Given the description of an element on the screen output the (x, y) to click on. 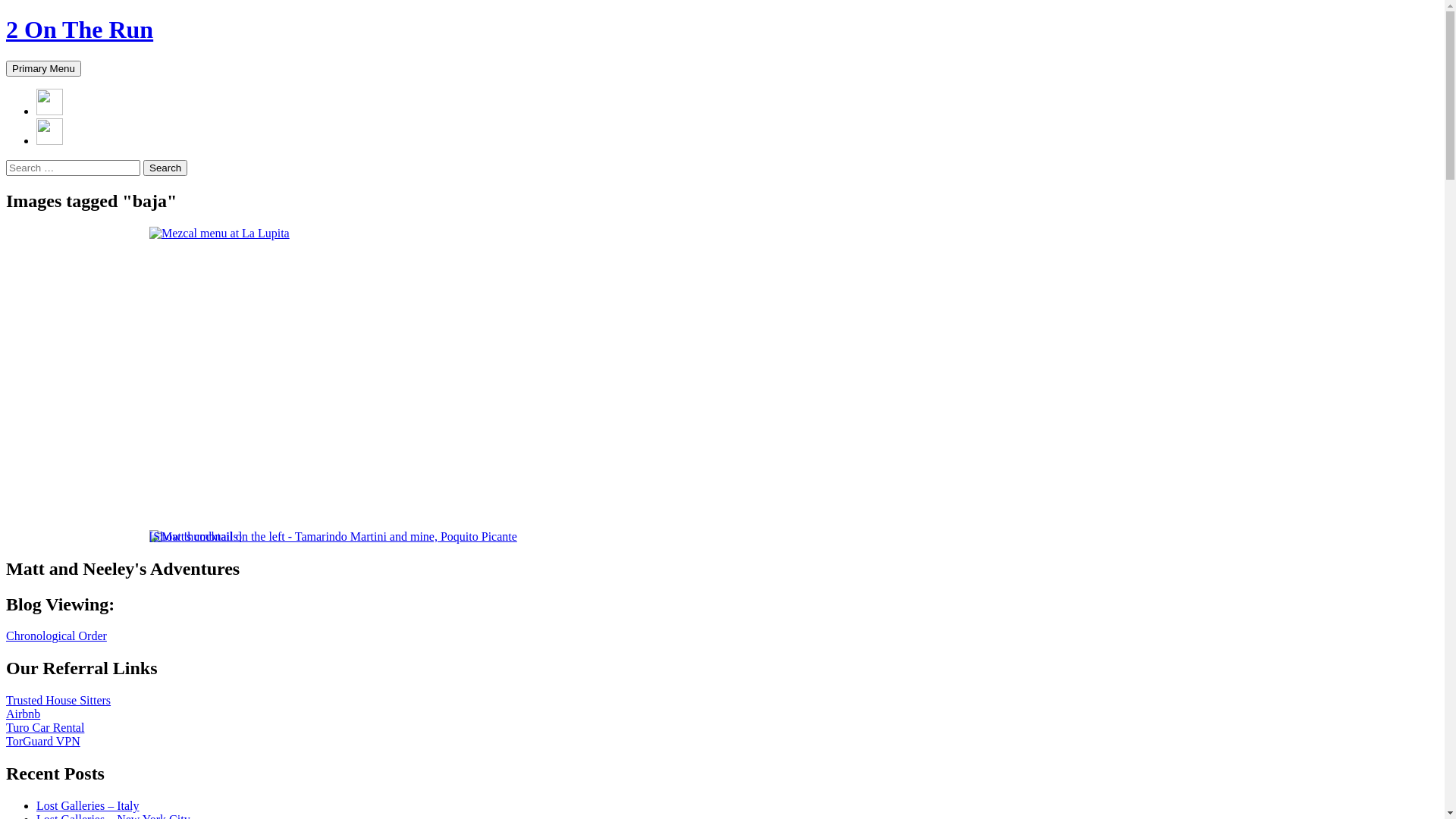
2 On The Run Element type: text (79, 29)
Skip to content Element type: text (80, 59)
[Show thumbnails] Element type: text (195, 536)
Turo Car Rental Element type: text (45, 727)
TorGuard VPN Element type: text (43, 740)
Search Element type: text (5, 59)
Trusted House Sitters Element type: text (58, 699)
Mezcal menu at La Lupita Element type: hover (219, 233)
Primary Menu Element type: text (43, 68)
Search Element type: text (165, 167)
Chronological Order Element type: text (56, 635)
Mezcal menu at La Lupita Element type: hover (219, 232)
Airbnb Element type: text (23, 713)
